Given the description of an element on the screen output the (x, y) to click on. 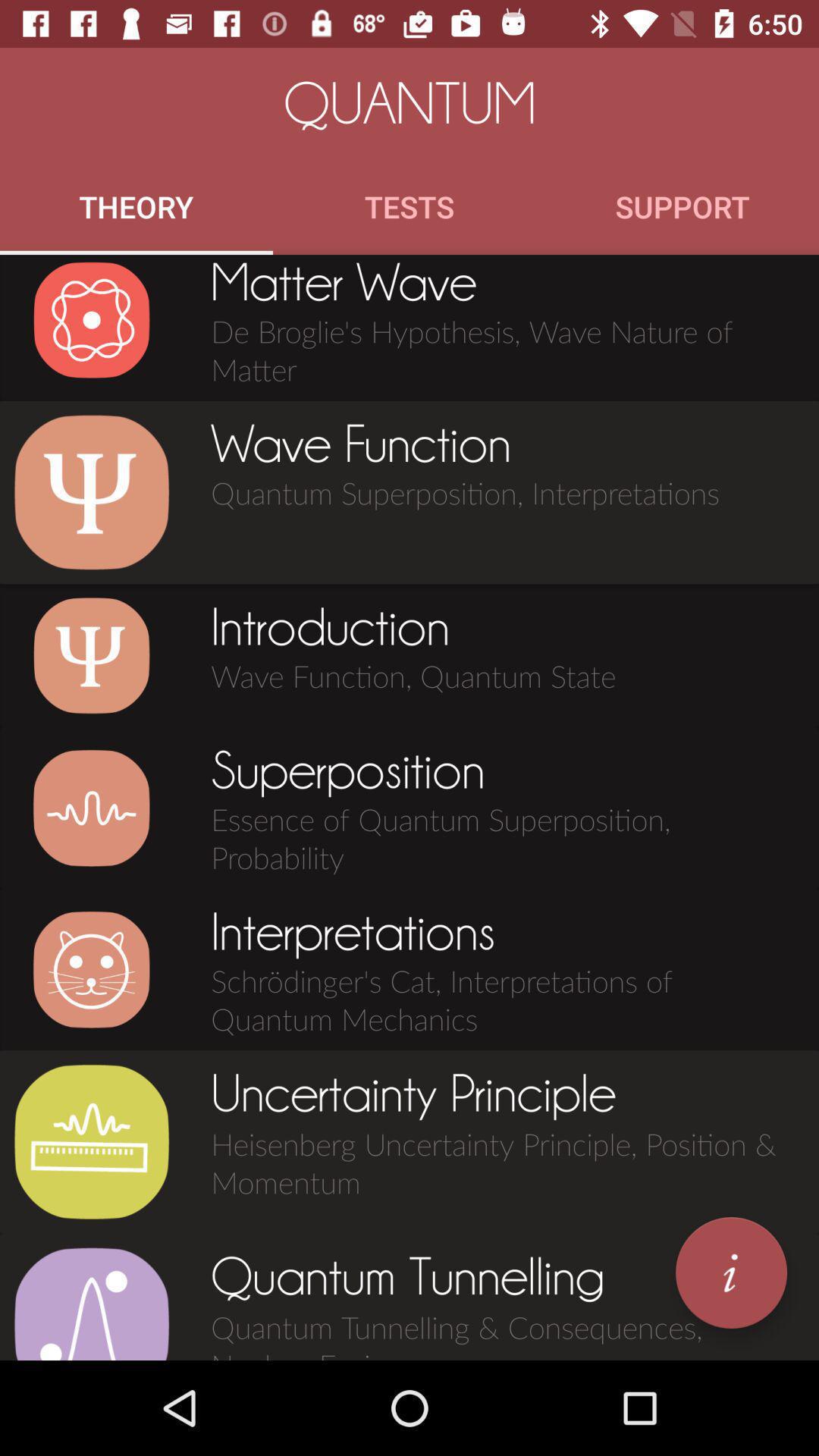
tap the item to the left of the quantum tunnelling item (91, 1302)
